Given the description of an element on the screen output the (x, y) to click on. 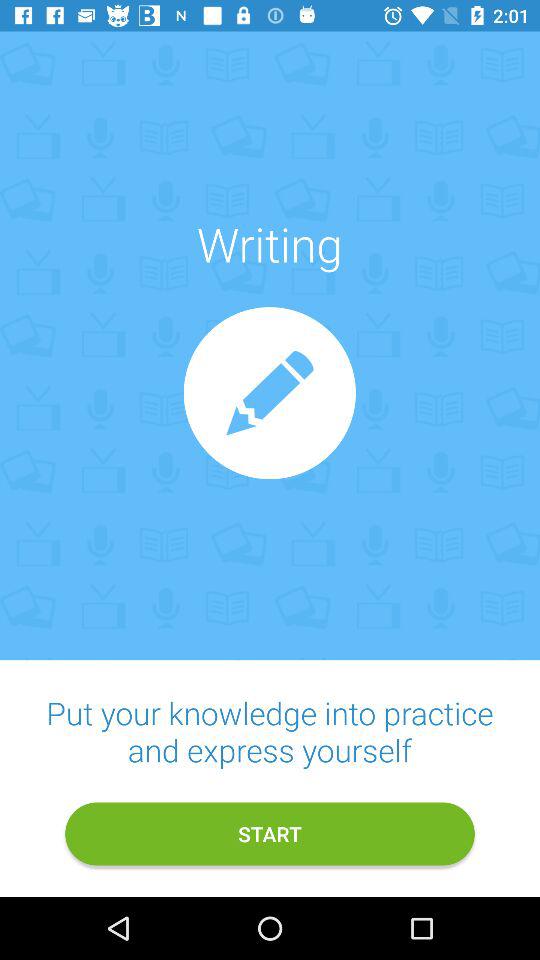
turn on the icon below the put your knowledge (269, 833)
